Given the description of an element on the screen output the (x, y) to click on. 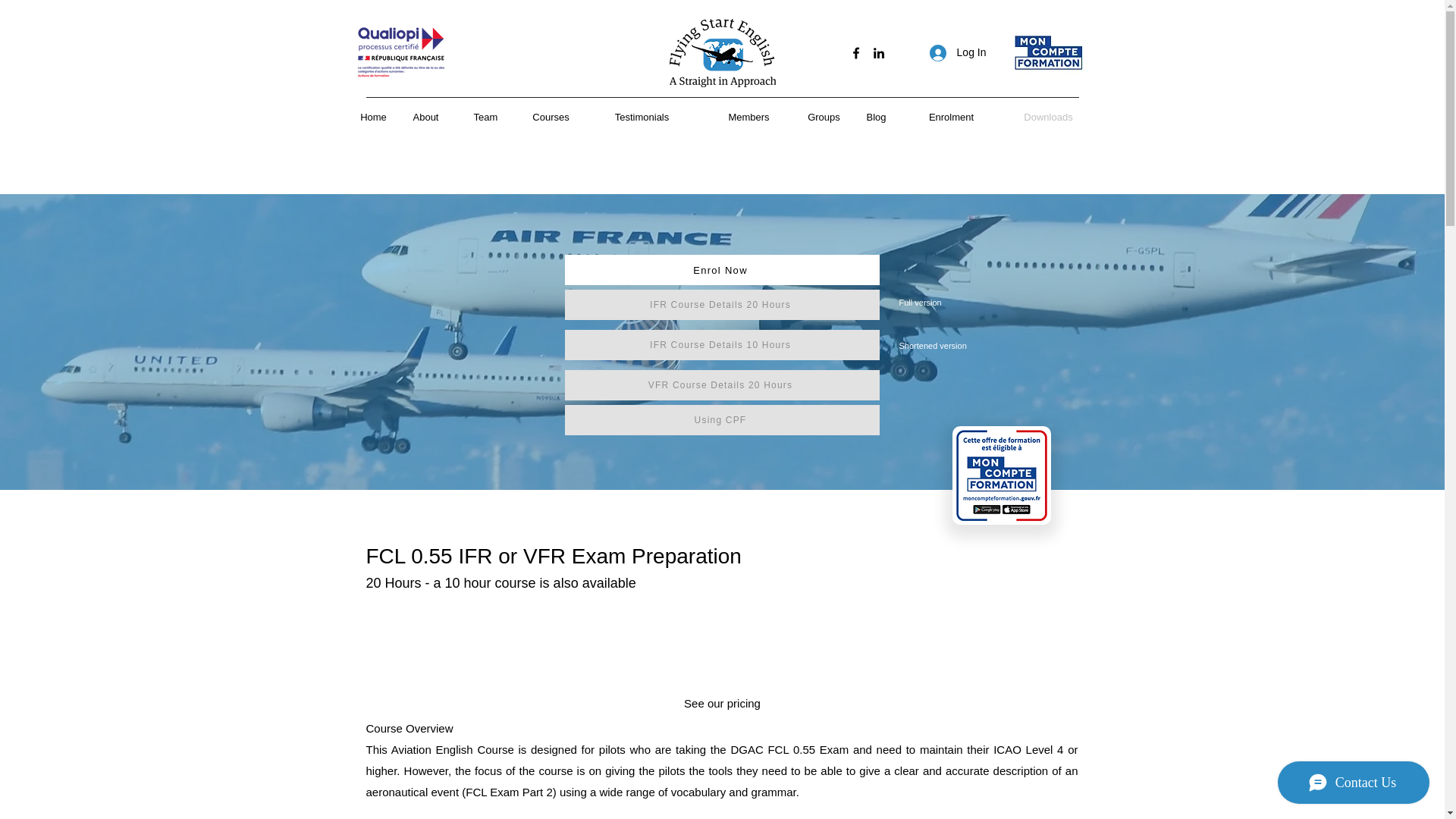
VFR Course Details 20 Hours (721, 385)
IFR Course Details 10 Hours (721, 345)
Testimonials (641, 117)
About (424, 117)
Home (373, 117)
See our pricing (721, 703)
Groups (822, 117)
Blog (876, 117)
Enrol Now (721, 269)
Team (484, 117)
